Given the description of an element on the screen output the (x, y) to click on. 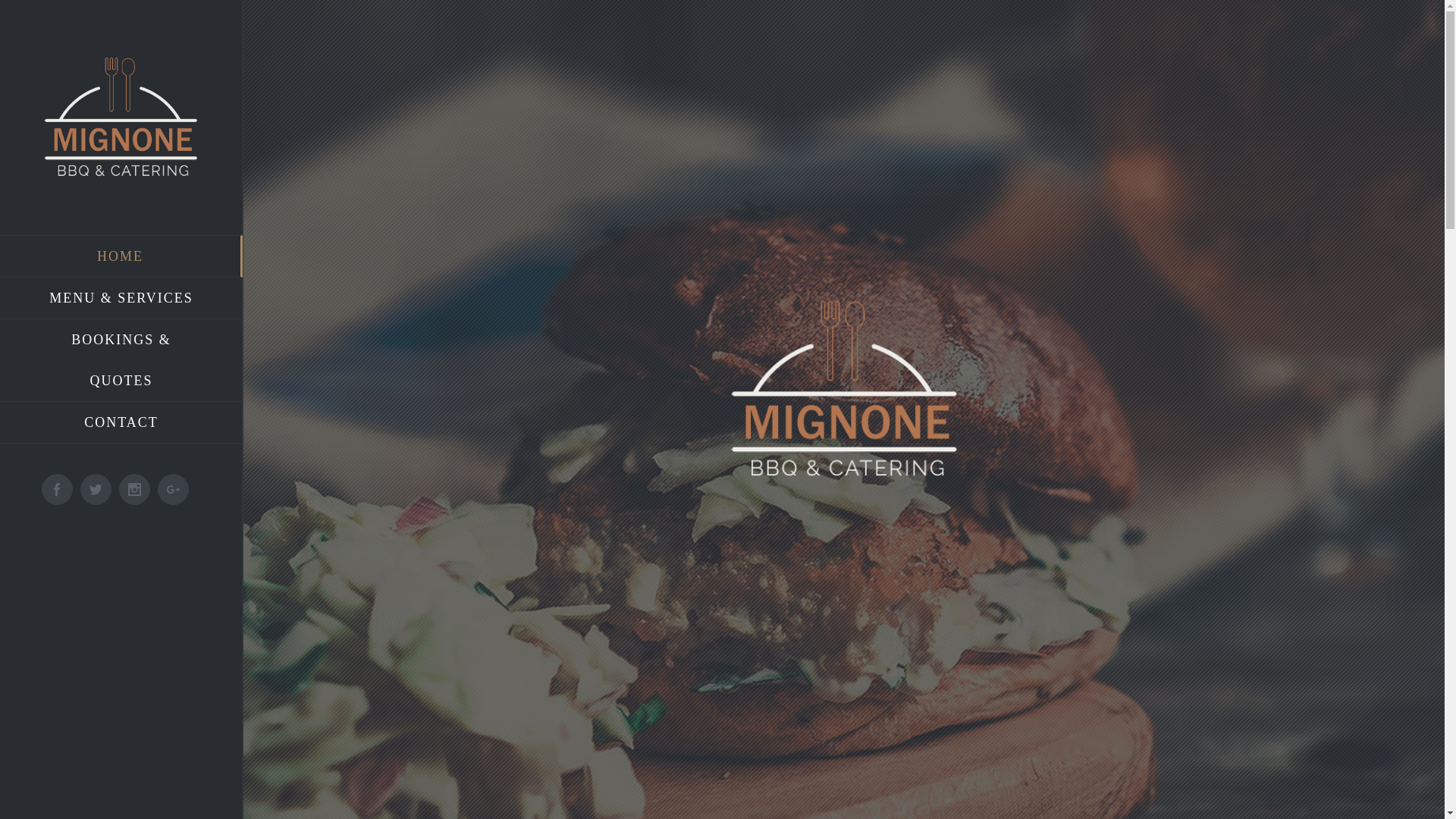
HOME Element type: text (121, 256)
Twitter Element type: text (95, 489)
BOOKINGS & QUOTES Element type: text (121, 360)
Google+ Element type: text (172, 489)
Facebook Element type: text (56, 489)
Instagram Element type: text (134, 489)
CONTACT Element type: text (121, 422)
MENU & SERVICES Element type: text (121, 298)
